Given the description of an element on the screen output the (x, y) to click on. 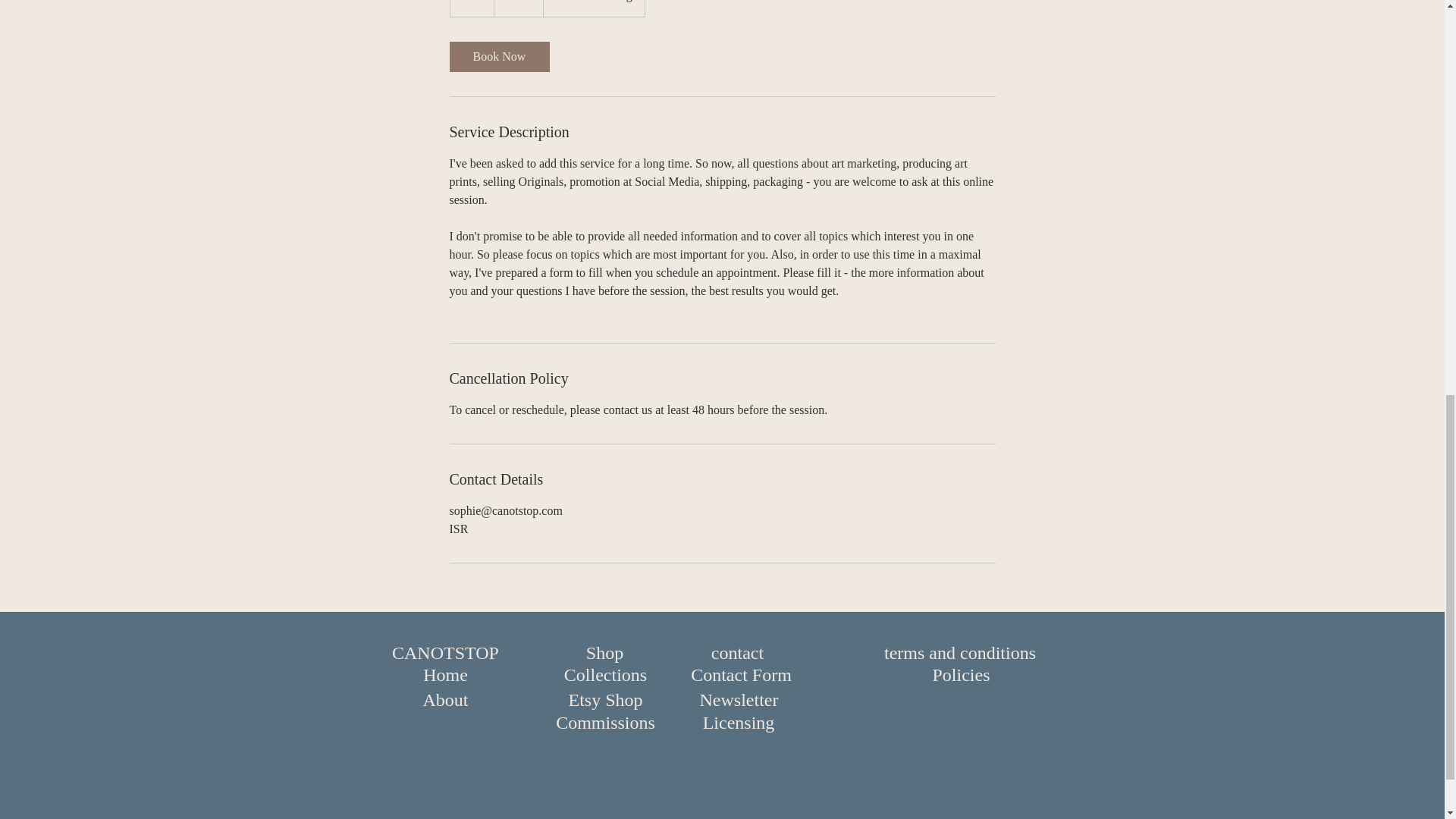
Collections (605, 675)
Etsy Shop (605, 700)
About (445, 700)
Home (445, 675)
Book Now (498, 56)
